Given the description of an element on the screen output the (x, y) to click on. 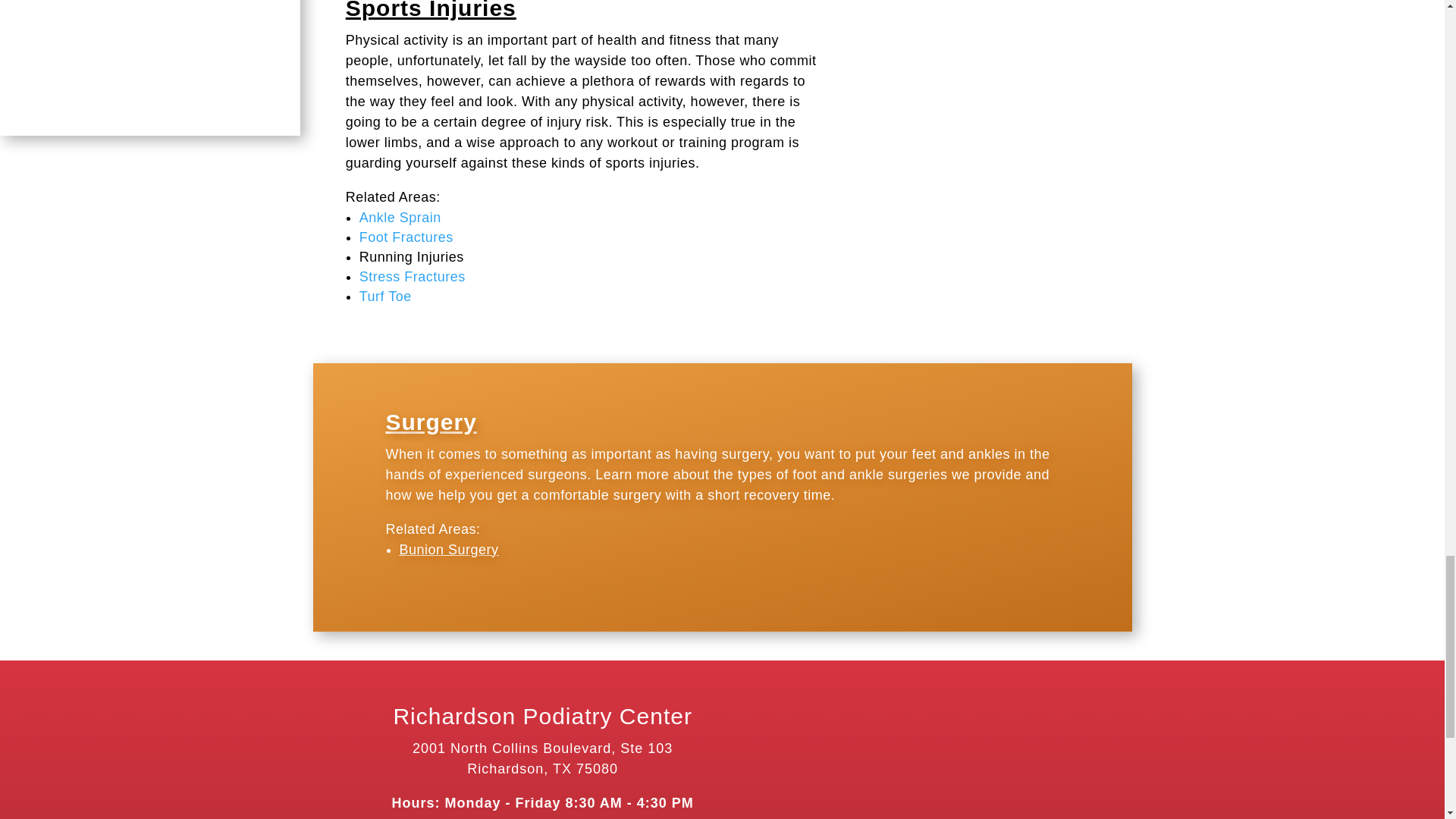
Podiatry Services (149, 68)
